Given the description of an element on the screen output the (x, y) to click on. 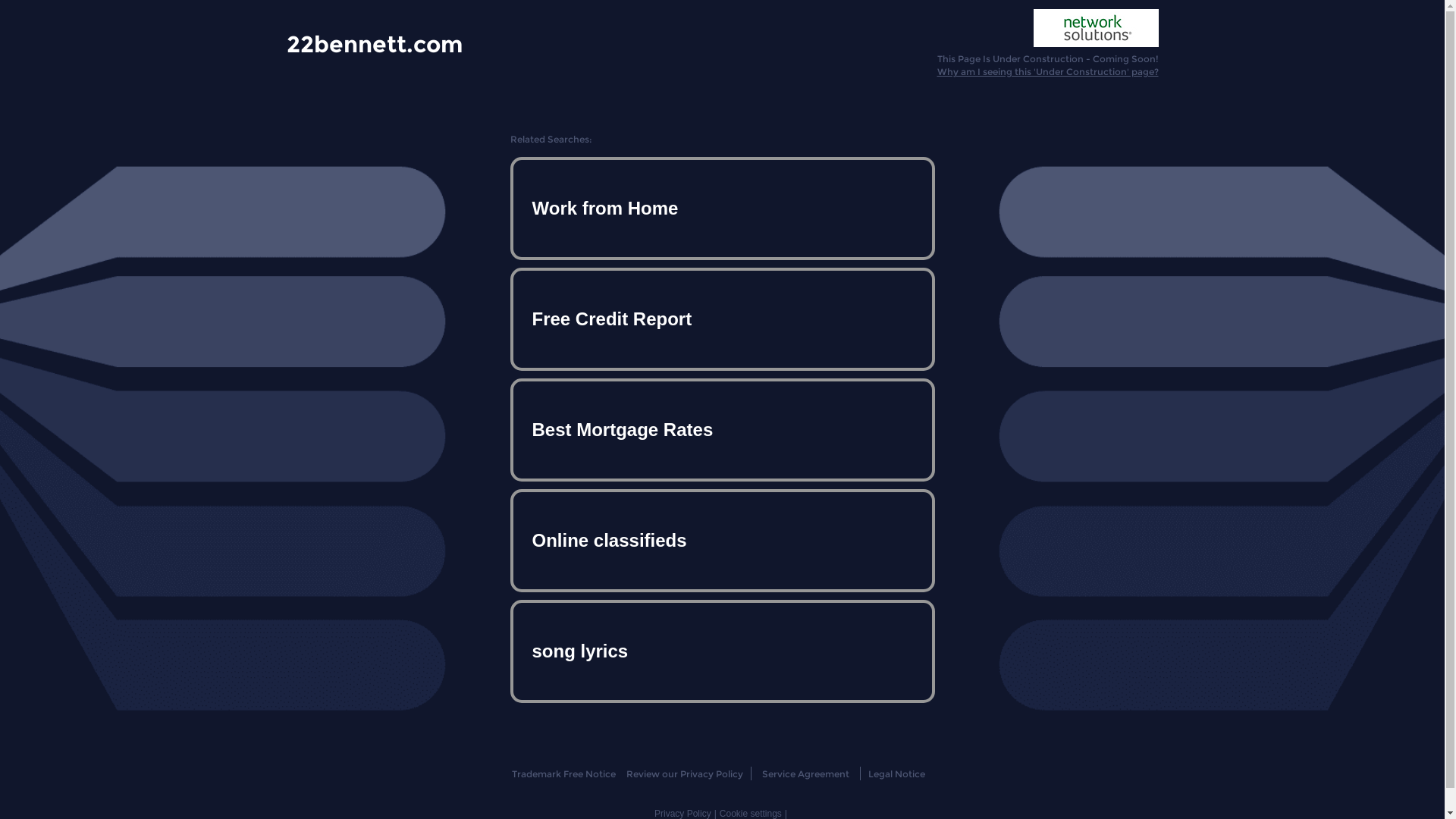
Trademark Free Notice Element type: text (563, 773)
Work from Home Element type: text (721, 208)
Legal Notice Element type: text (896, 773)
Why am I seeing this 'Under Construction' page? Element type: text (1047, 71)
Online classifieds Element type: text (721, 540)
Review our Privacy Policy Element type: text (684, 773)
song lyrics Element type: text (721, 650)
22bennett.com Element type: text (374, 43)
Free Credit Report Element type: text (721, 318)
Service Agreement Element type: text (805, 773)
Best Mortgage Rates Element type: text (721, 429)
